Given the description of an element on the screen output the (x, y) to click on. 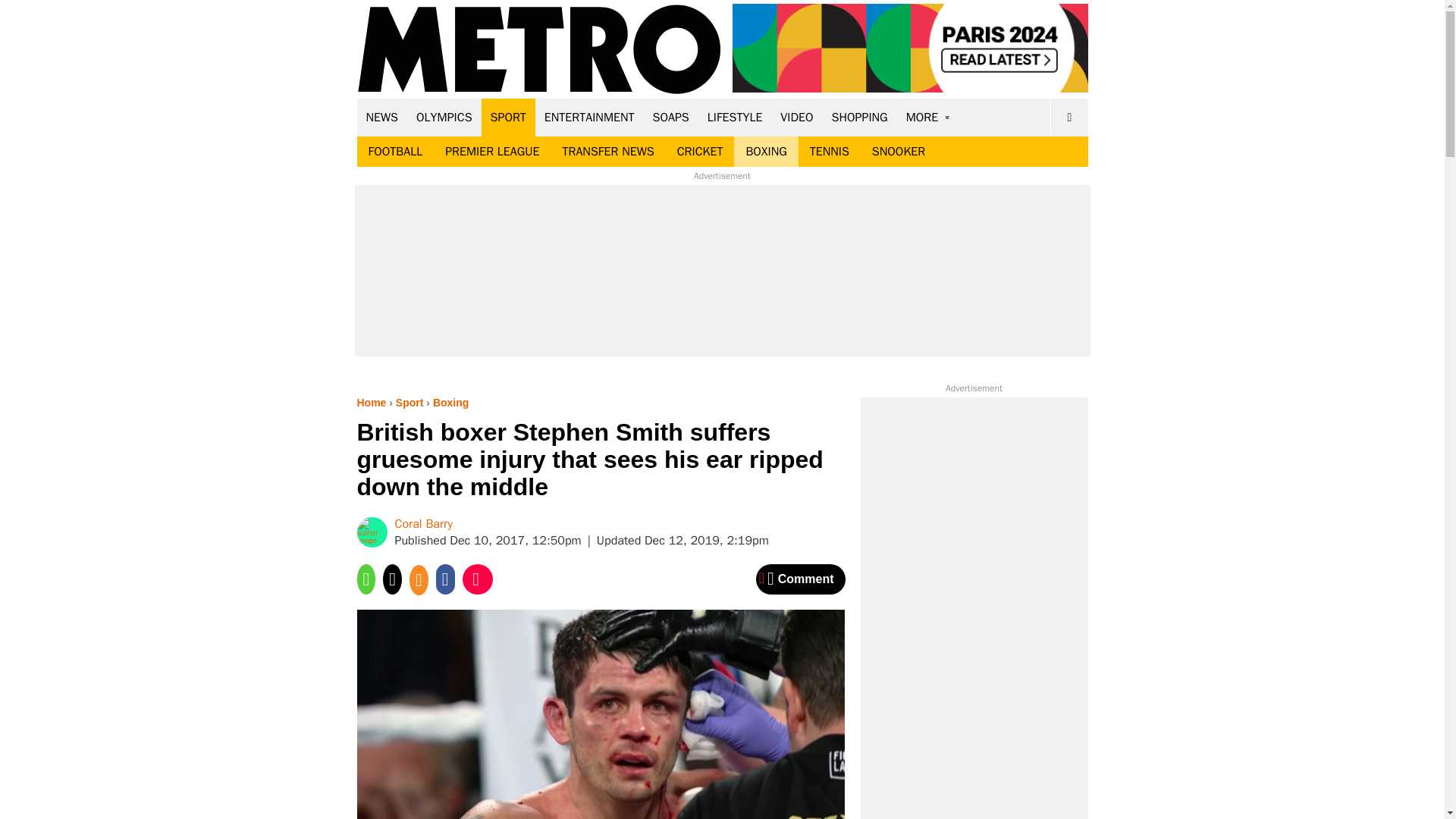
LIFESTYLE (734, 117)
ENTERTAINMENT (589, 117)
BOXING (765, 151)
NEWS (381, 117)
TRANSFER NEWS (607, 151)
OLYMPICS (444, 117)
CRICKET (700, 151)
TENNIS (828, 151)
PREMIER LEAGUE (491, 151)
SPORT (508, 117)
Metro (539, 50)
SNOOKER (898, 151)
FOOTBALL (394, 151)
SOAPS (670, 117)
